Given the description of an element on the screen output the (x, y) to click on. 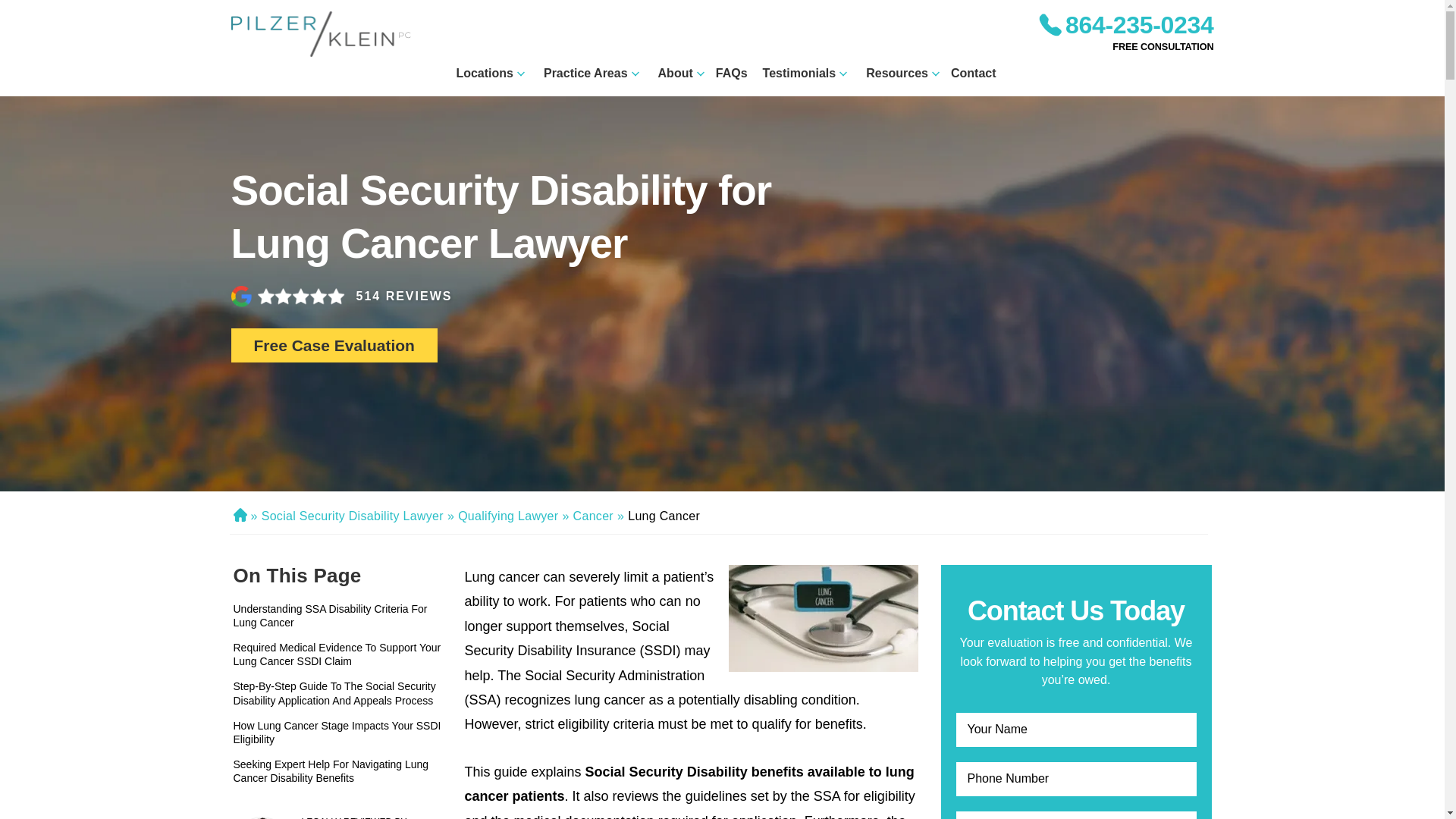
Pilzer Klein (320, 33)
Understanding SSA Disability Criteria For Lung Cancer (342, 615)
Google Review (286, 296)
Free Case Evaluation (333, 345)
Free Consultation (1162, 47)
Call to Pilzer Klein (1125, 24)
Practice Areas (585, 73)
Locations (484, 73)
Kevin Klein (260, 818)
864-235-0234 (1125, 24)
How Lung Cancer Stage Impacts Your SSDI Eligibility (342, 732)
FREE CONSULTATION (1162, 47)
